Given the description of an element on the screen output the (x, y) to click on. 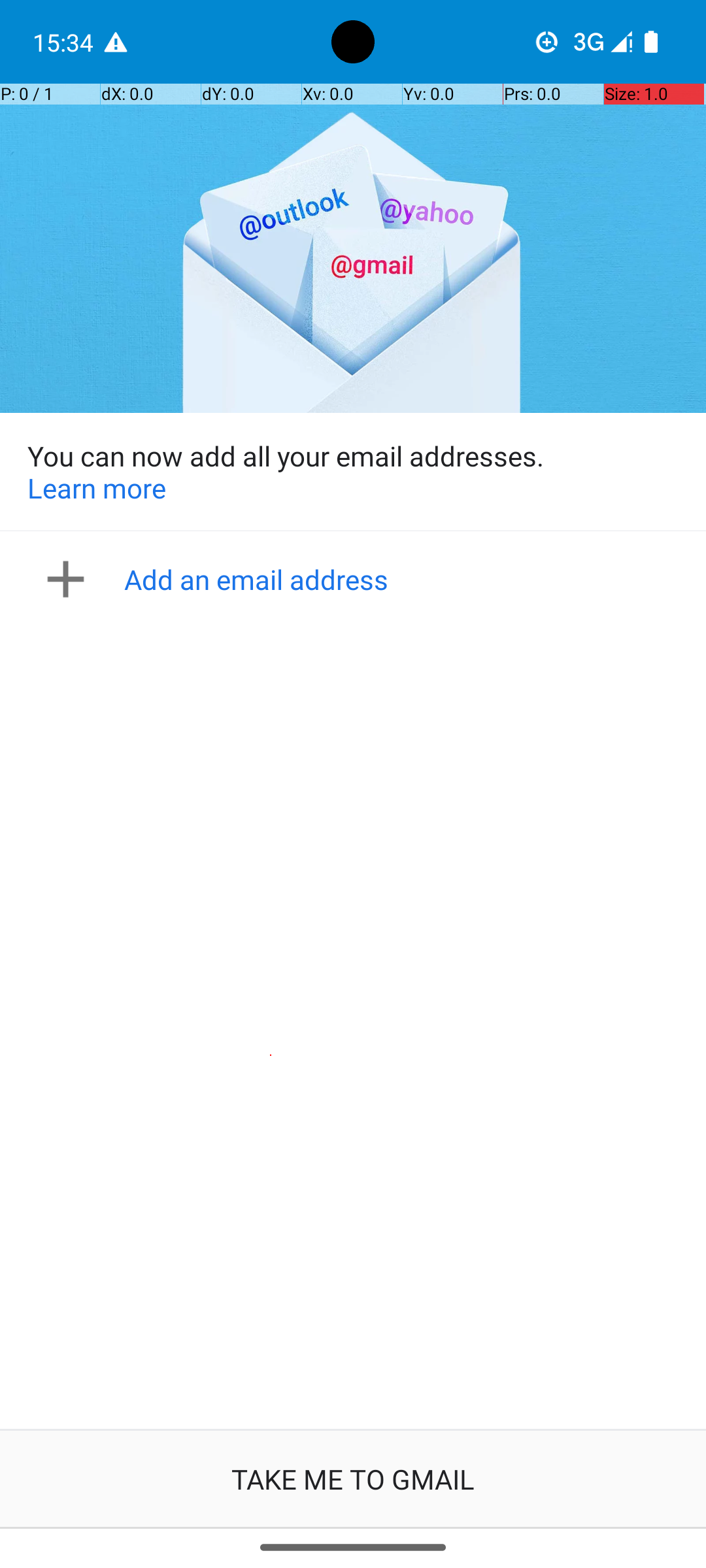
You can now add all your email addresses. Learn more Element type: android.widget.TextView (352, 471)
TAKE ME TO GMAIL Element type: android.widget.TextView (353, 1478)
Add an email address Element type: android.widget.TextView (356, 579)
